Given the description of an element on the screen output the (x, y) to click on. 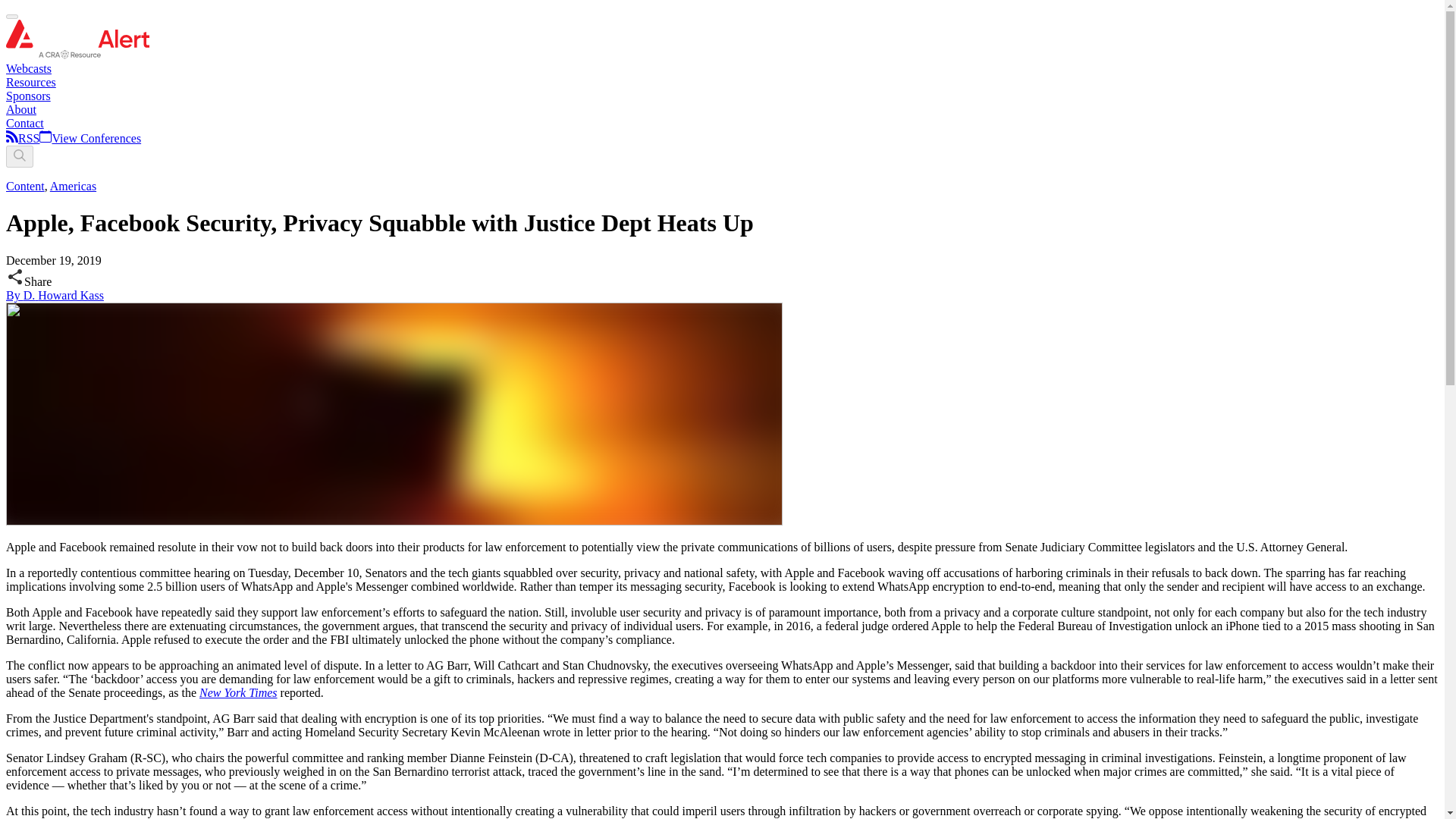
MSSP Alert (77, 54)
About (20, 109)
View Conferences (90, 137)
RSS (28, 137)
Content (25, 185)
Sponsors (27, 95)
By D. Howard Kass (54, 295)
New York Times (238, 692)
Webcasts (27, 68)
Americas (72, 185)
View Cybersecurity Conference Calendar (90, 137)
Contact (24, 123)
Resources (30, 82)
RSS Feed for MSSP Alert Latest Articles (11, 137)
